Given the description of an element on the screen output the (x, y) to click on. 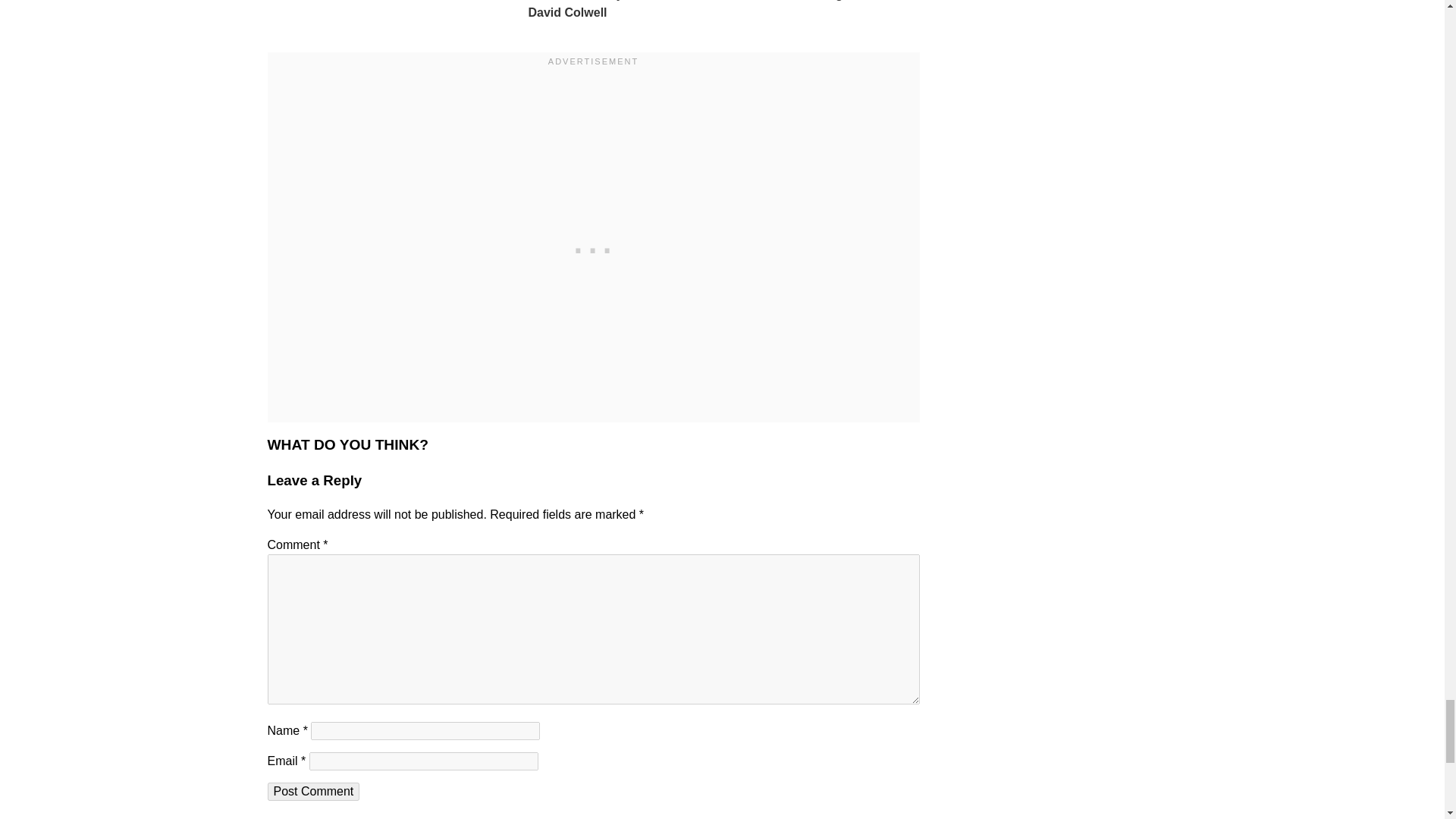
Post Comment (312, 791)
Modern Wooden Decor makes home amazing (855, 2)
40 Stunning Luxury Bathrooms with Incredible Views (723, 2)
Modern Wooden Decor makes home amazing (855, 2)
40 Stunning Luxury Bathrooms with Incredible Views (723, 2)
